Given the description of an element on the screen output the (x, y) to click on. 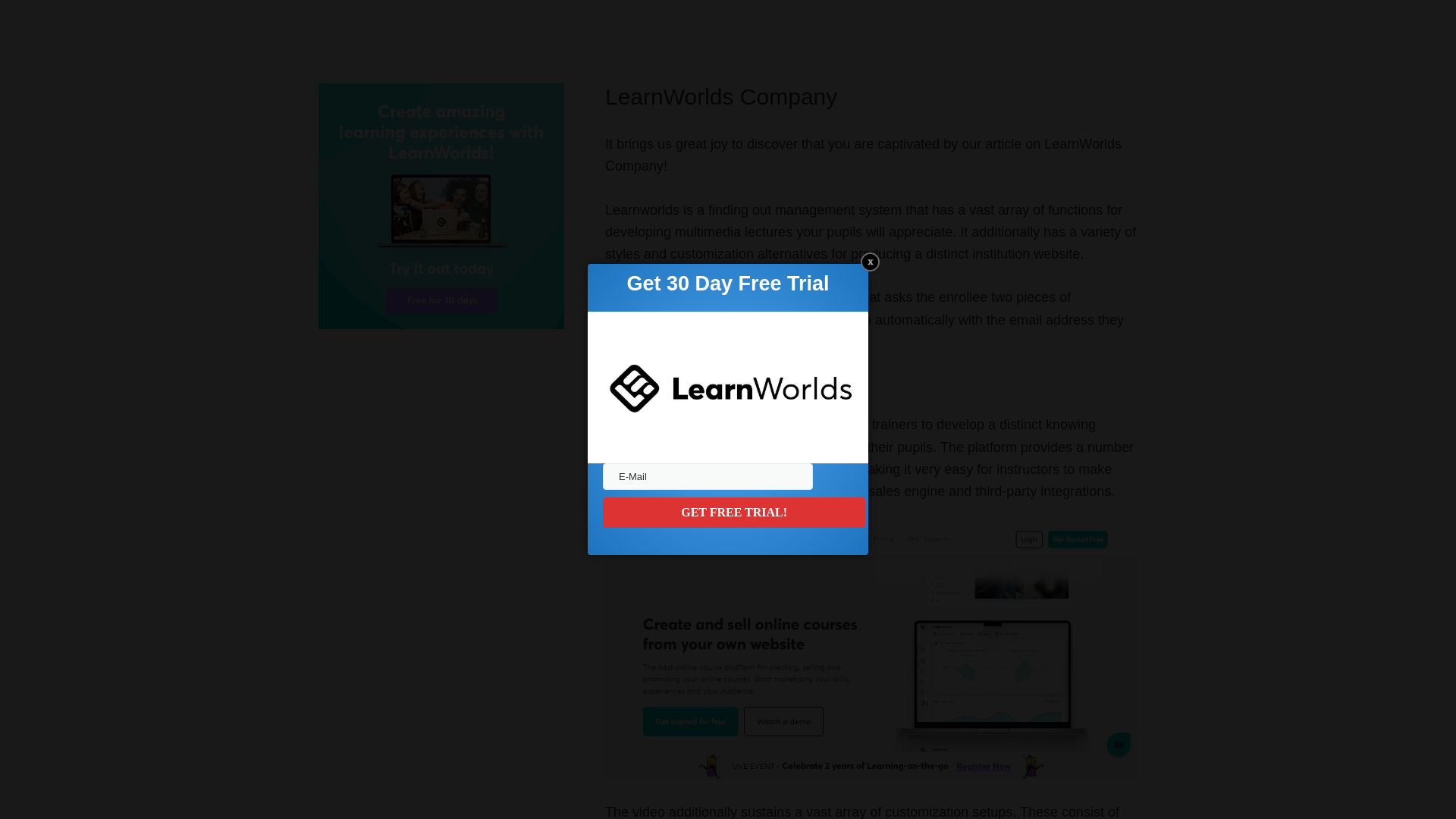
GET FREE TRIAL! (733, 512)
GET FREE TRIAL! (733, 512)
